Given the description of an element on the screen output the (x, y) to click on. 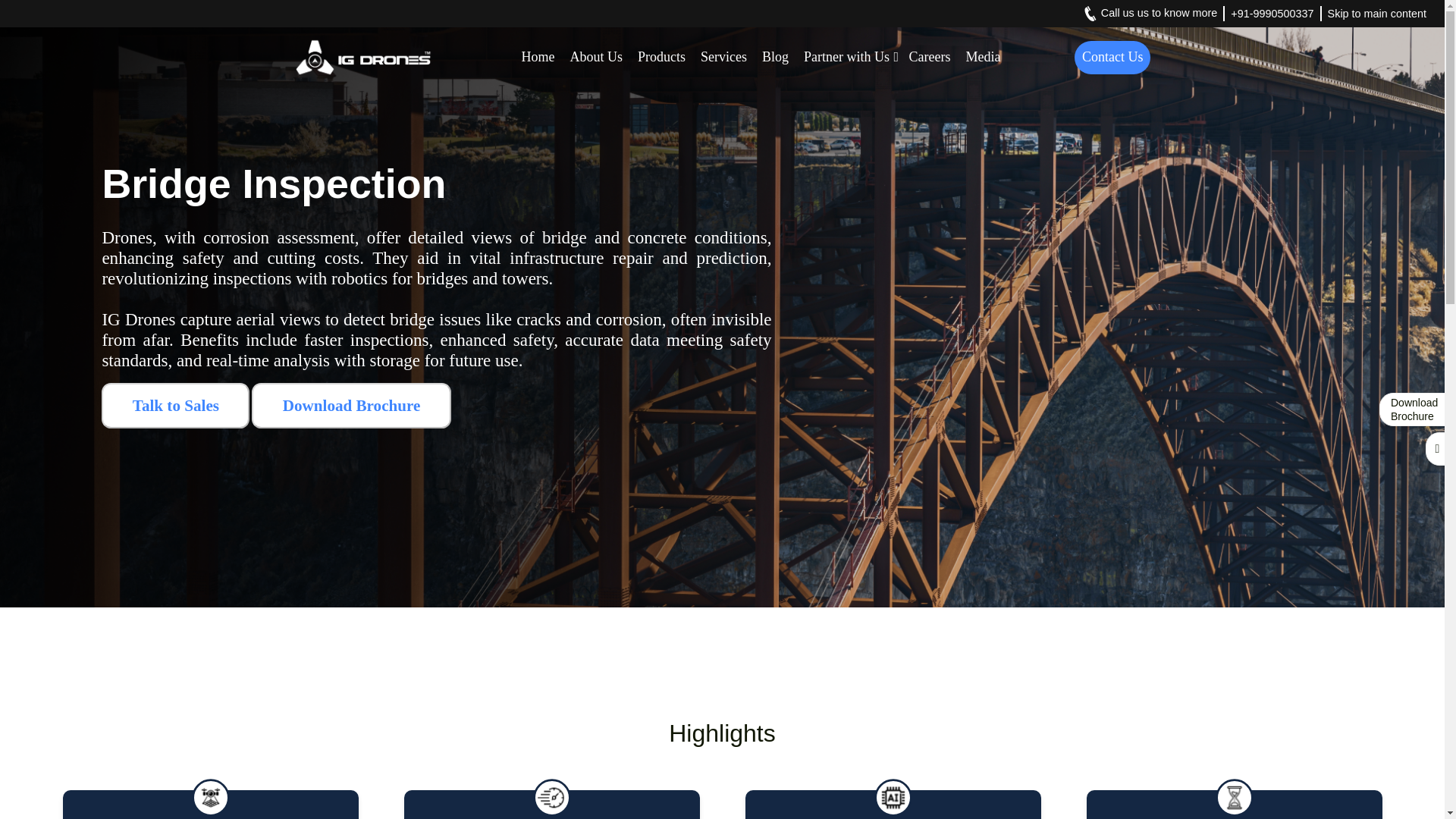
Download Brochure (350, 405)
Talk to Sales (174, 405)
Contact Us (1112, 56)
Call us us to know more (1150, 13)
Skip to main content (1377, 13)
Partner with Us (848, 56)
